Given the description of an element on the screen output the (x, y) to click on. 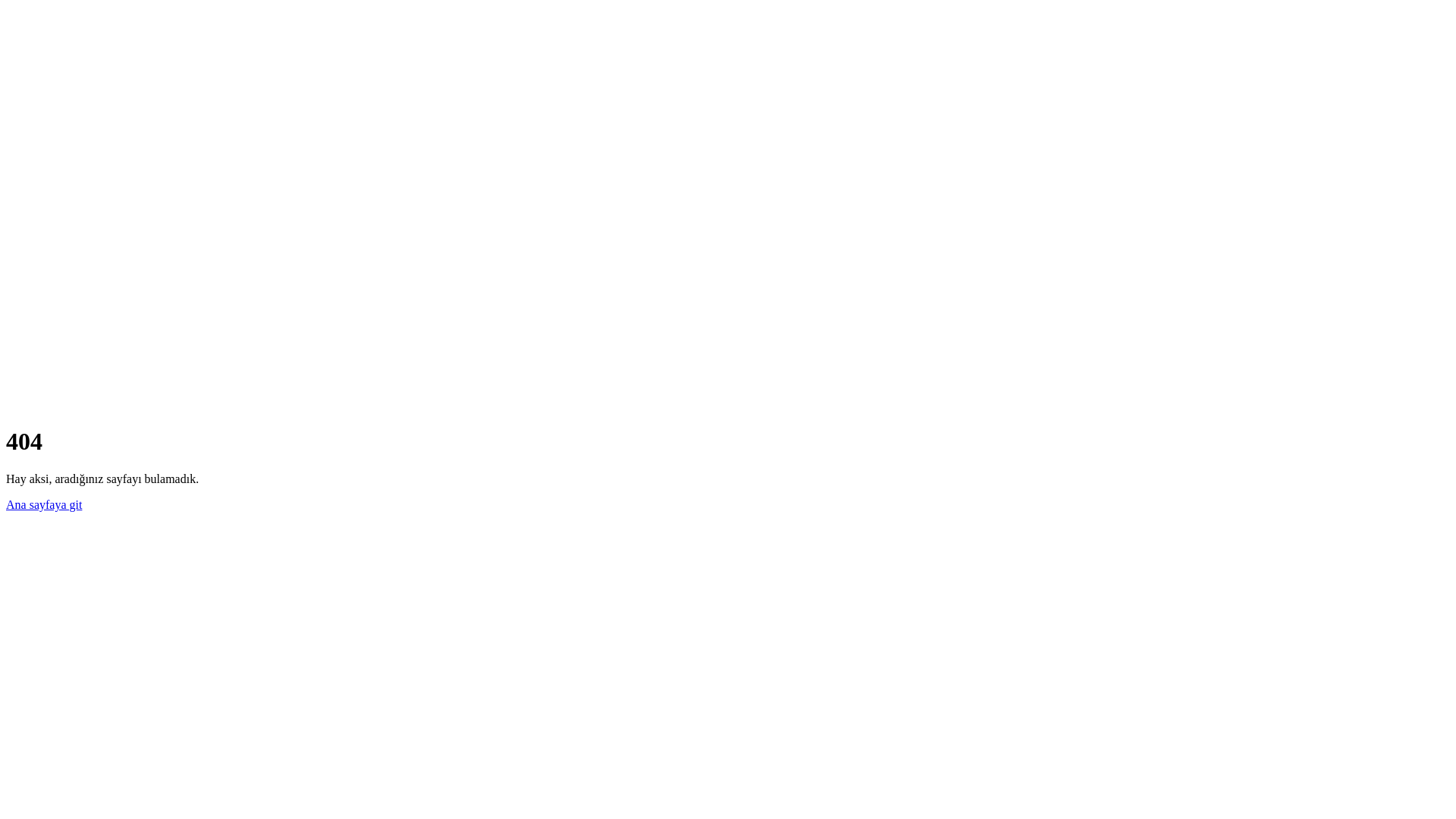
Ana sayfaya git Element type: text (43, 504)
